Given the description of an element on the screen output the (x, y) to click on. 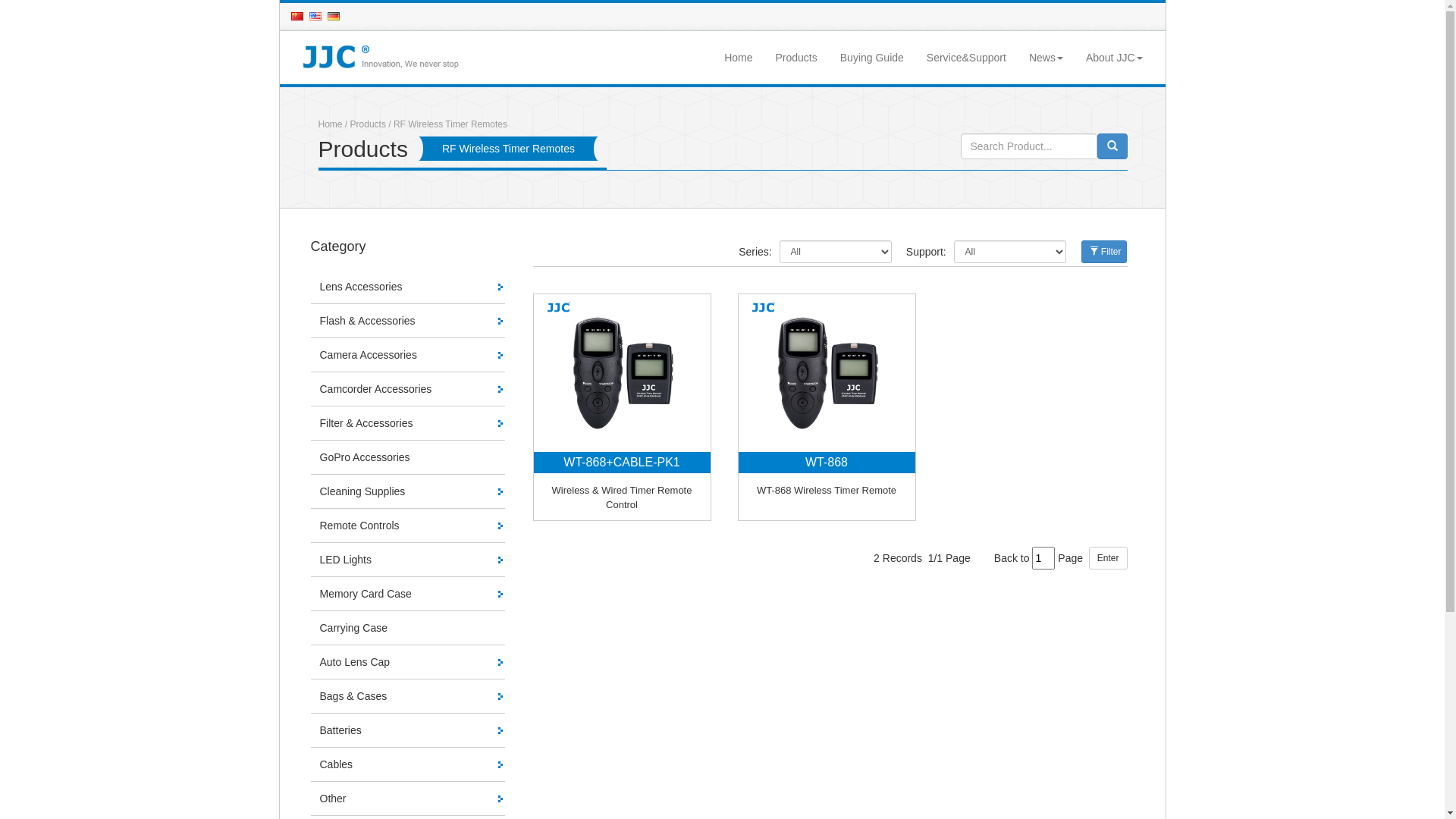
LED Lights Element type: text (407, 559)
Cables Element type: text (407, 764)
Bags & Cases Element type: text (407, 696)
Cleaning Supplies Element type: text (407, 491)
Remote Controls Element type: text (407, 525)
Batteries Element type: text (407, 730)
Products Element type: text (796, 57)
Camera Accessories Element type: text (407, 355)
Auto Lens Cap Element type: text (407, 662)
Filter & Accessories Element type: text (407, 423)
About JJC Element type: text (1114, 57)
Memory Card Case Element type: text (407, 594)
Lens Accessories Element type: text (407, 286)
Home Element type: text (330, 124)
Chinese Element type: hover (300, 16)
News Element type: text (1045, 57)
English Element type: hover (318, 16)
Filter Element type: text (1103, 251)
Camcorder Accessories Element type: text (407, 389)
Service&Support Element type: text (966, 57)
WT-868 Wireless Timer Remote Element type: text (826, 489)
German Element type: hover (336, 16)
Carrying Case Element type: text (407, 628)
Products Element type: text (367, 124)
Other Element type: text (407, 798)
Buying Guide Element type: text (871, 57)
Wireless & Wired Timer Remote Control Element type: text (622, 497)
GoPro Accessories Element type: text (407, 457)
Home Element type: text (737, 57)
Enter Element type: text (1107, 557)
Flash & Accessories Element type: text (407, 321)
